Given the description of an element on the screen output the (x, y) to click on. 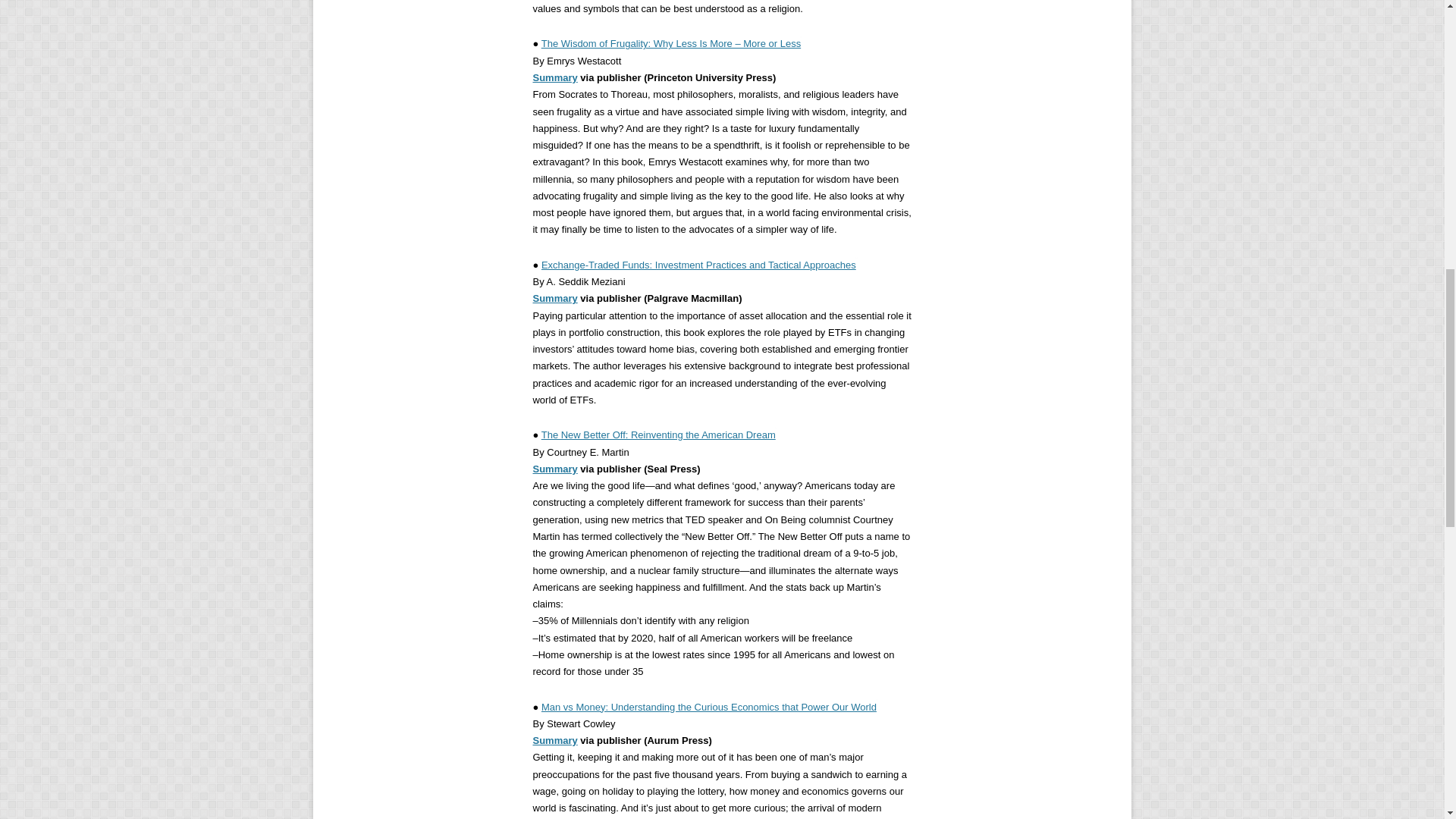
Summary (554, 77)
The New Better Off: Reinventing the American Dream (658, 434)
Summary (554, 297)
Summary (554, 740)
Summary (554, 469)
